Given the description of an element on the screen output the (x, y) to click on. 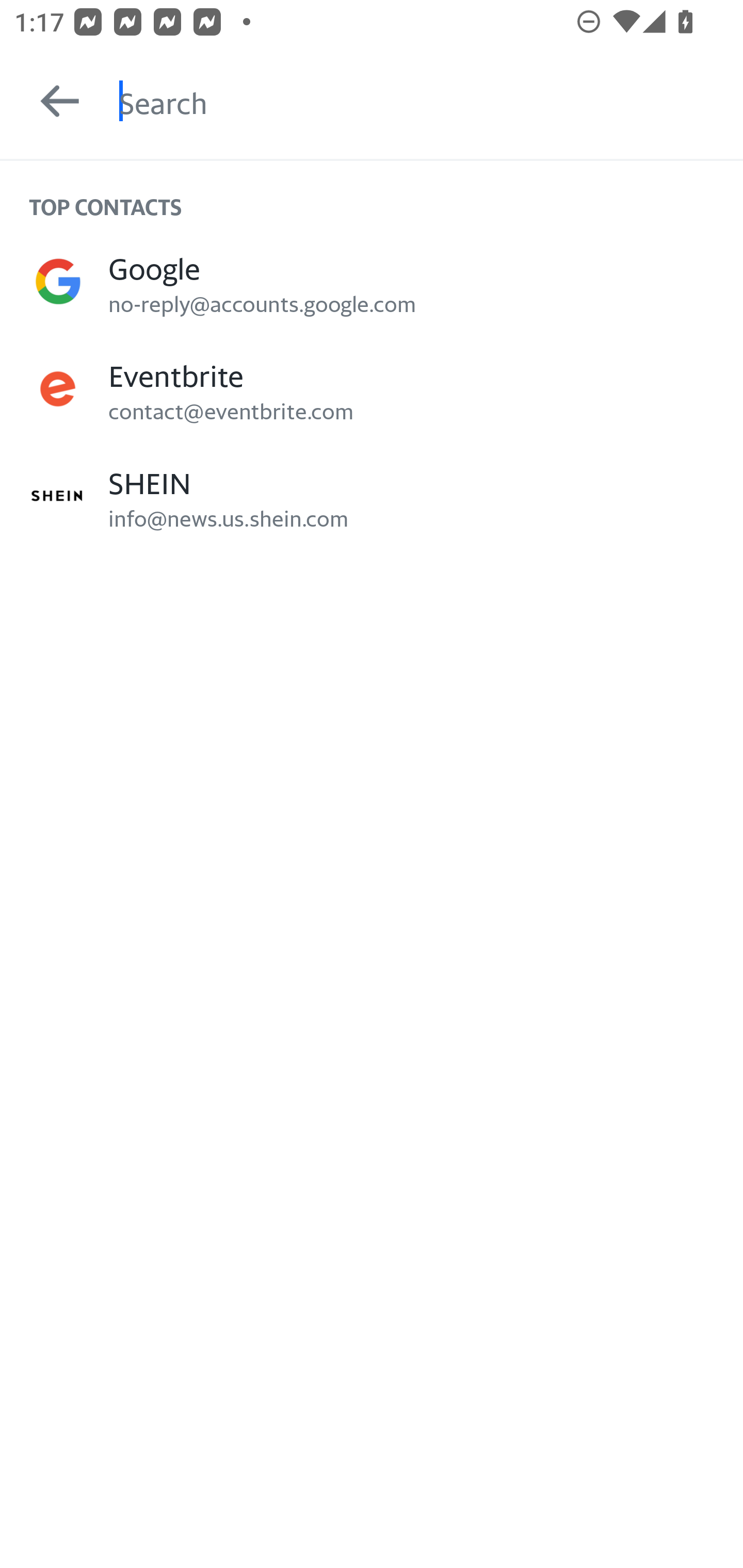
Back (50, 101)
Search (430, 101)
Top contacts Google no-reply@accounts.google.com (371, 281)
Top contacts Eventbrite contact@eventbrite.com (371, 388)
Top contacts SHEIN info@news.us.shein.com (371, 496)
